Given the description of an element on the screen output the (x, y) to click on. 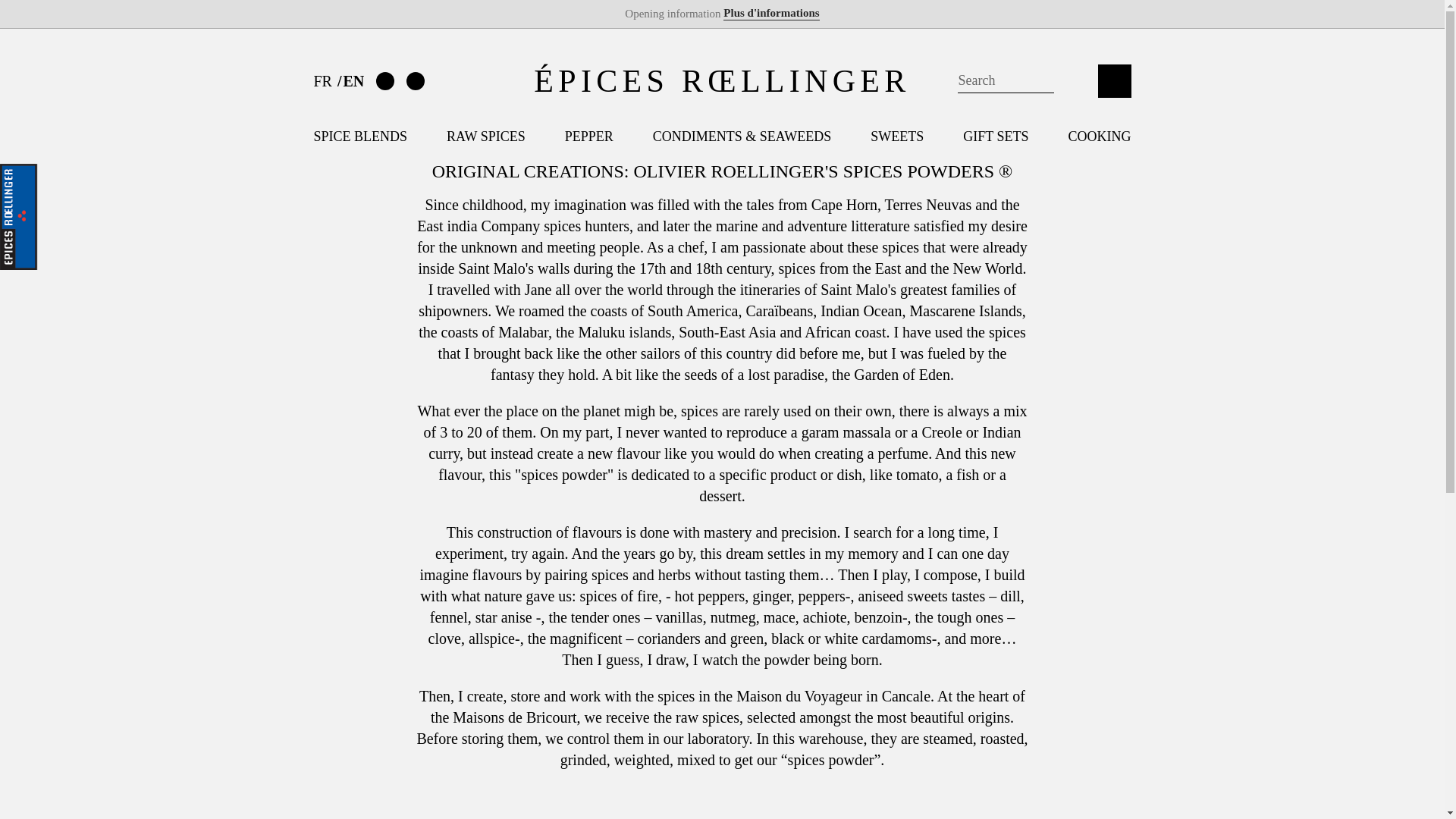
GIFT SETS (994, 136)
Plus d'informations (770, 12)
SWEETS (896, 136)
SPICE BLENDS (360, 136)
RAW SPICES (485, 136)
PEPPER (588, 136)
COOKING (1099, 136)
FR (325, 80)
Facebook (384, 81)
My cart (1114, 80)
Instagram (415, 81)
